Given the description of an element on the screen output the (x, y) to click on. 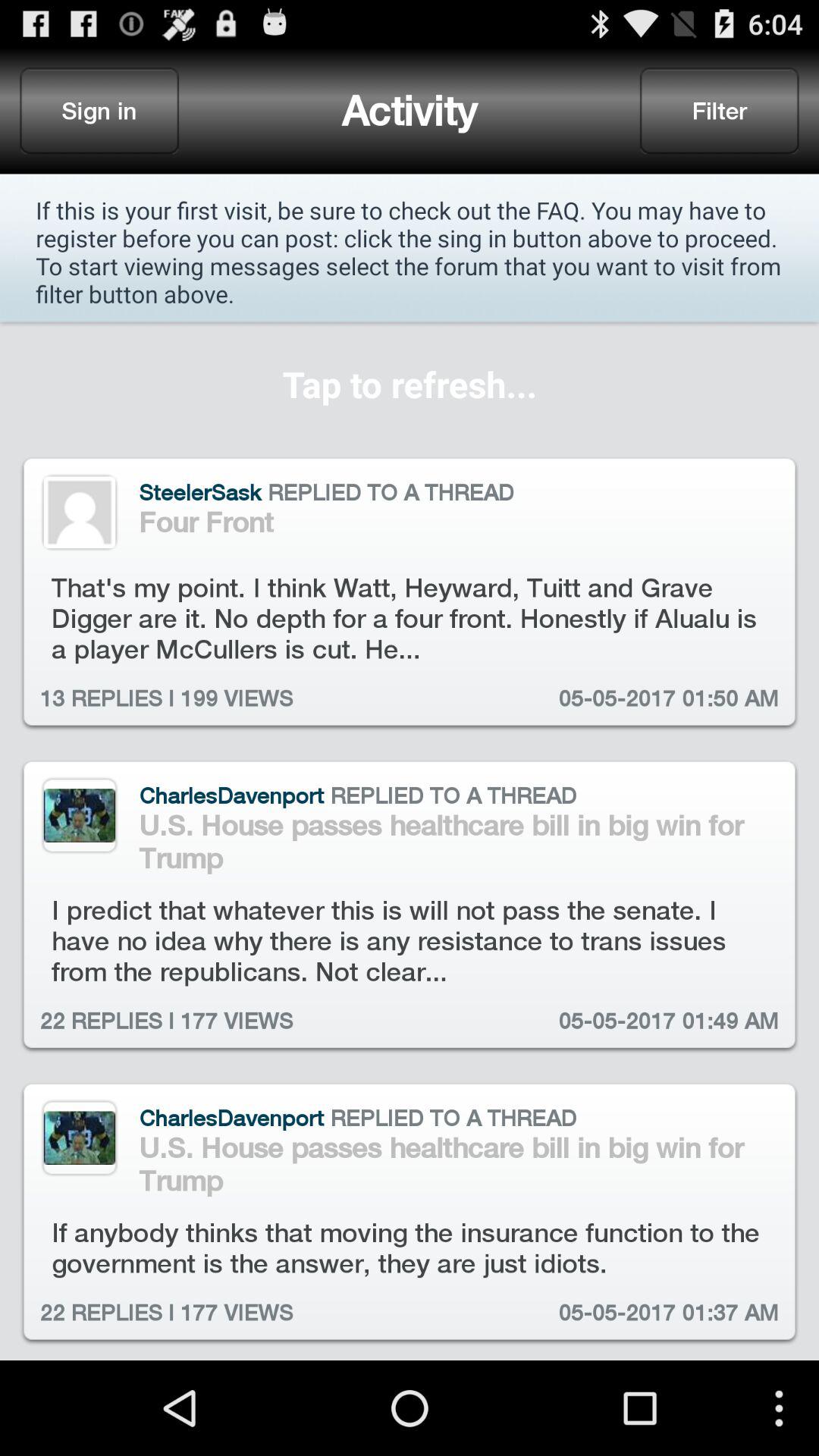
click on sign in (99, 110)
